Given the description of an element on the screen output the (x, y) to click on. 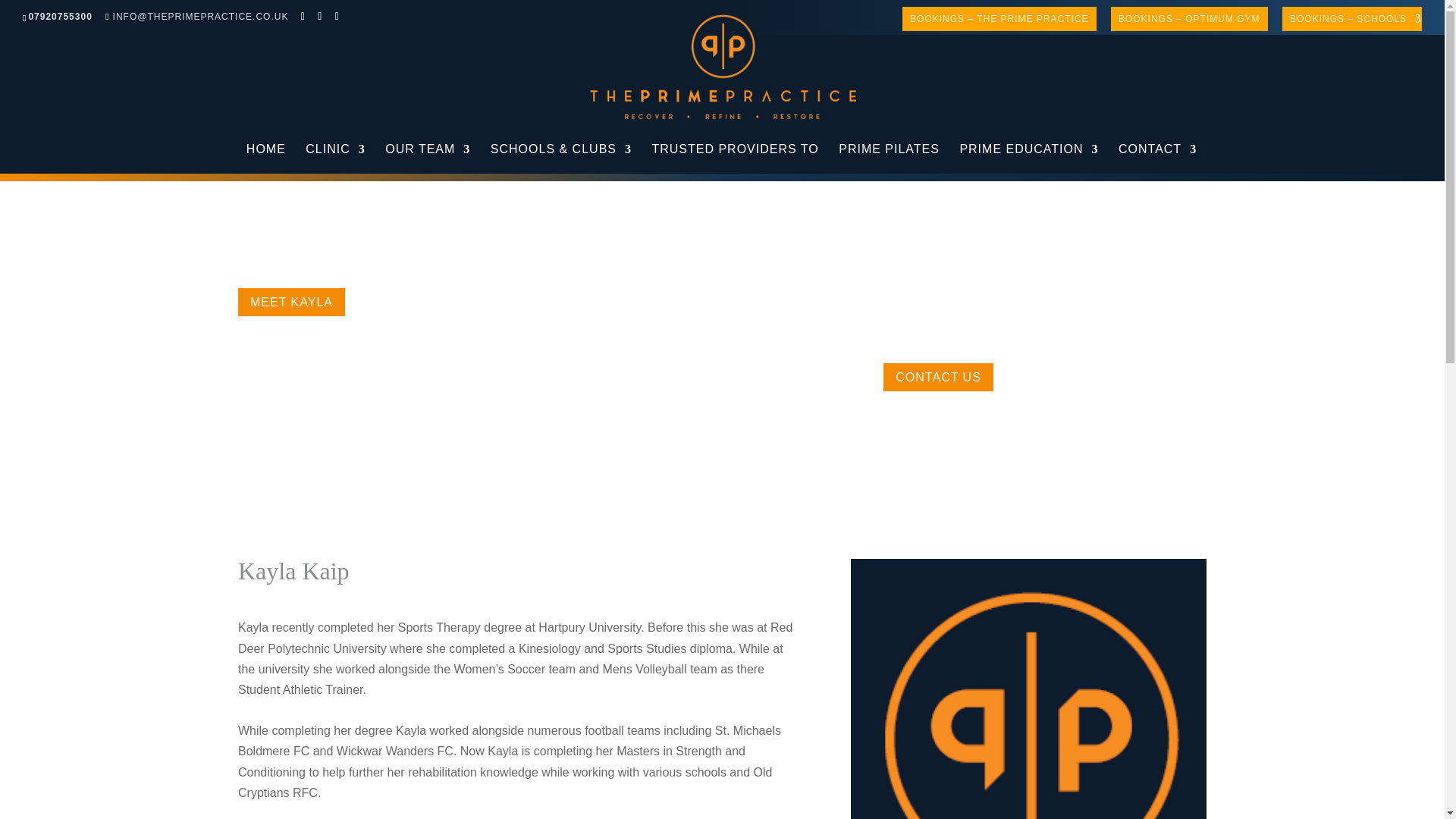
CLINIC (335, 158)
OUR TEAM (427, 158)
HOME (265, 158)
